Given the description of an element on the screen output the (x, y) to click on. 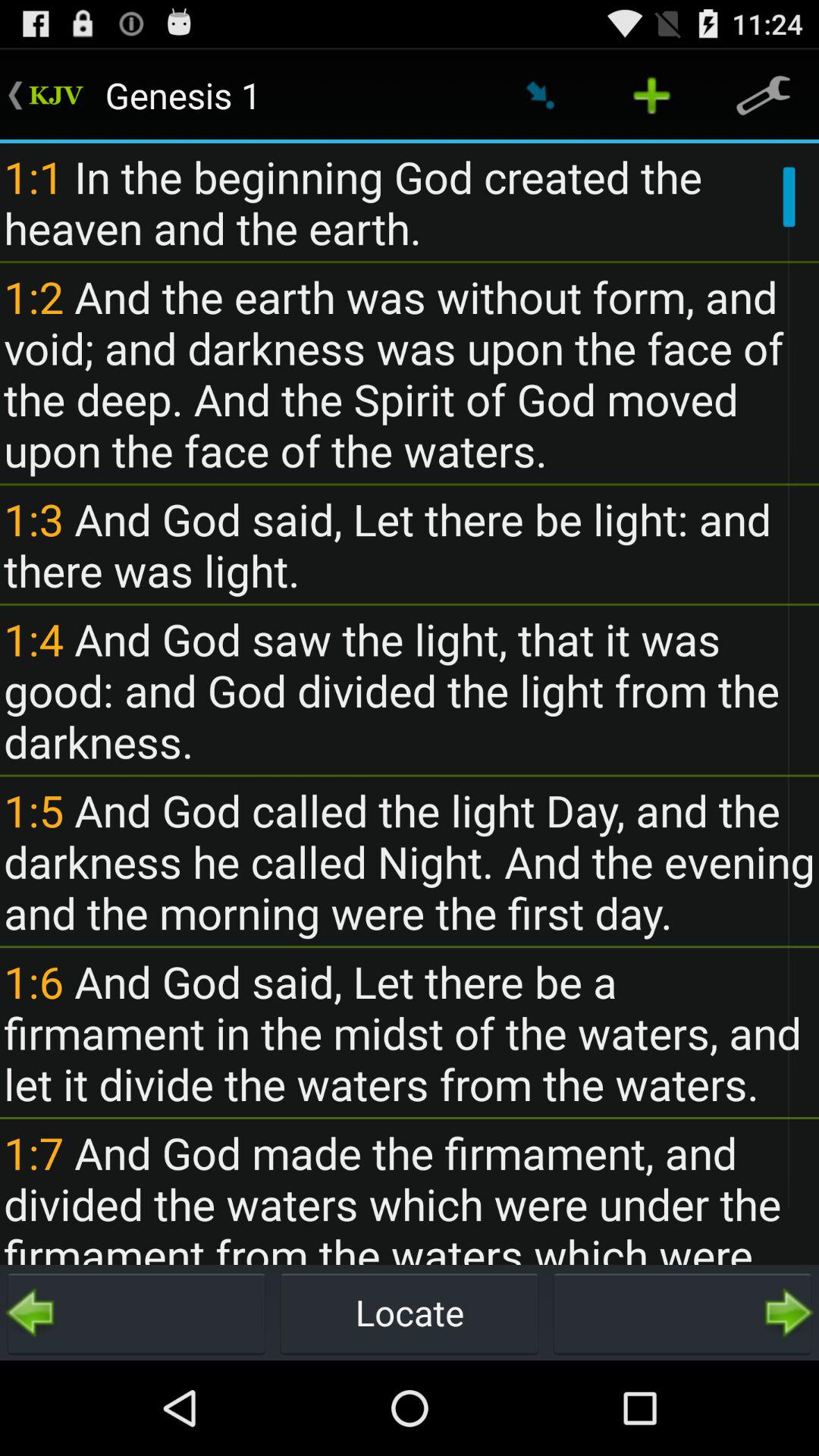
click on the  plus icon (651, 95)
click on the icon left to plus symbol (540, 95)
select the first line highlighted which is in the green color (55, 95)
select the locate option (409, 1312)
